Given the description of an element on the screen output the (x, y) to click on. 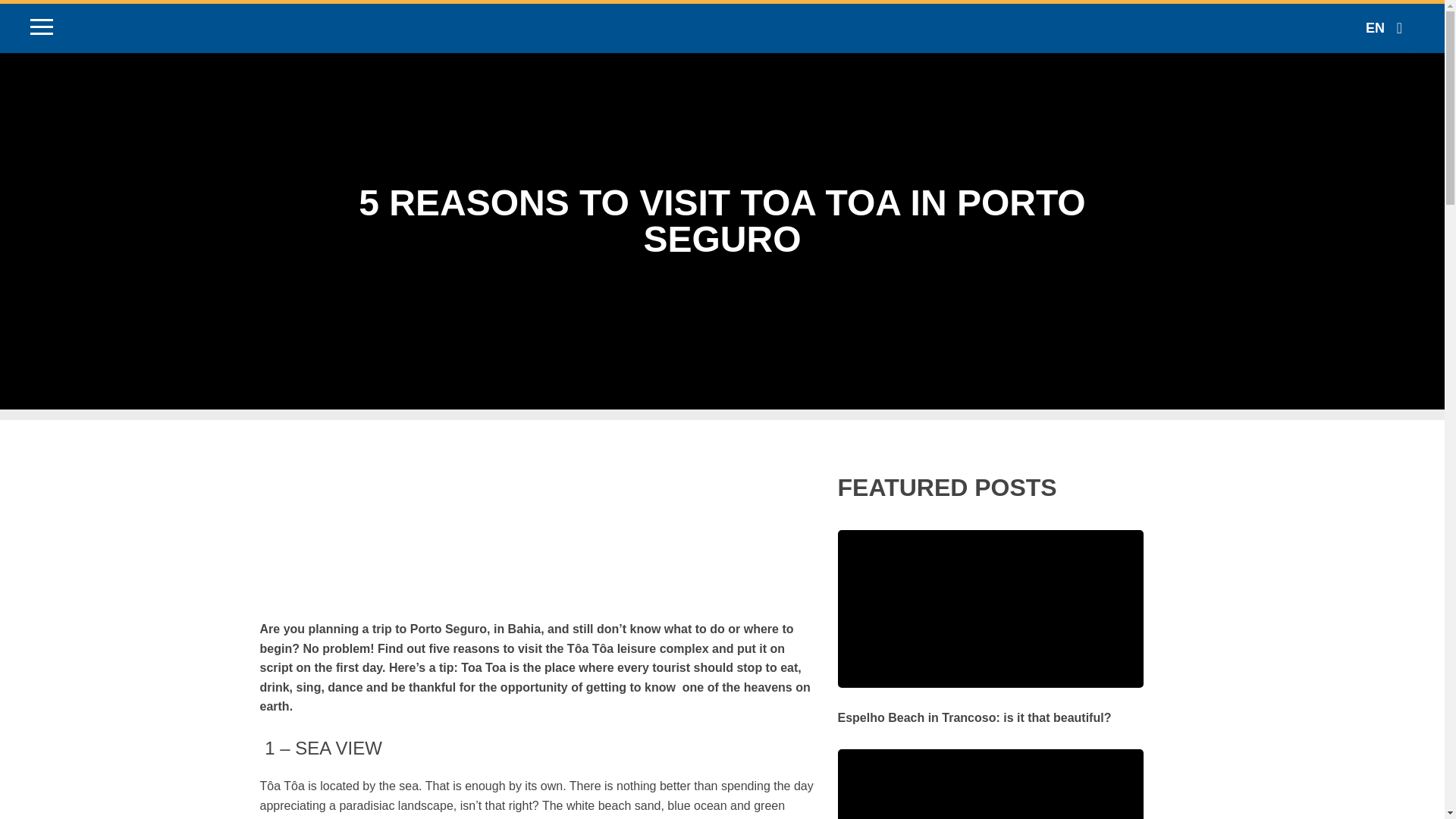
EN (1383, 27)
En (1383, 27)
Espelho Beach in Trancoso: is it that beautiful? (989, 707)
Saiba mais (989, 707)
